Given the description of an element on the screen output the (x, y) to click on. 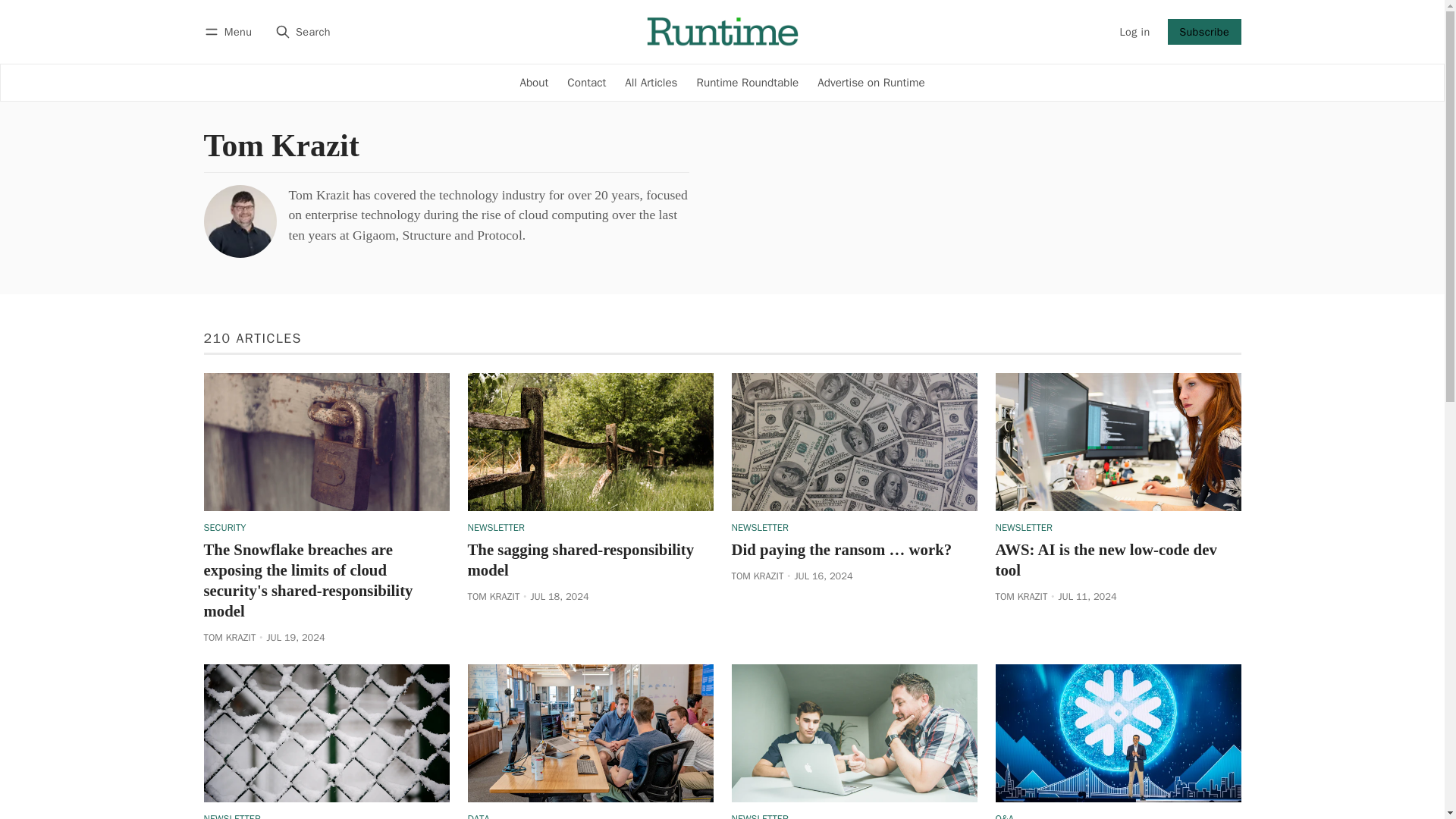
All Articles (651, 82)
Menu (230, 31)
Menu (230, 31)
Subscribe (1204, 31)
Search (302, 31)
Search (302, 31)
Contact (586, 82)
TOM KRAZIT (229, 637)
About (534, 82)
Runtime Roundtable (747, 82)
SECURITY (224, 528)
Log in (1133, 31)
Advertise on Runtime (871, 82)
